Given the description of an element on the screen output the (x, y) to click on. 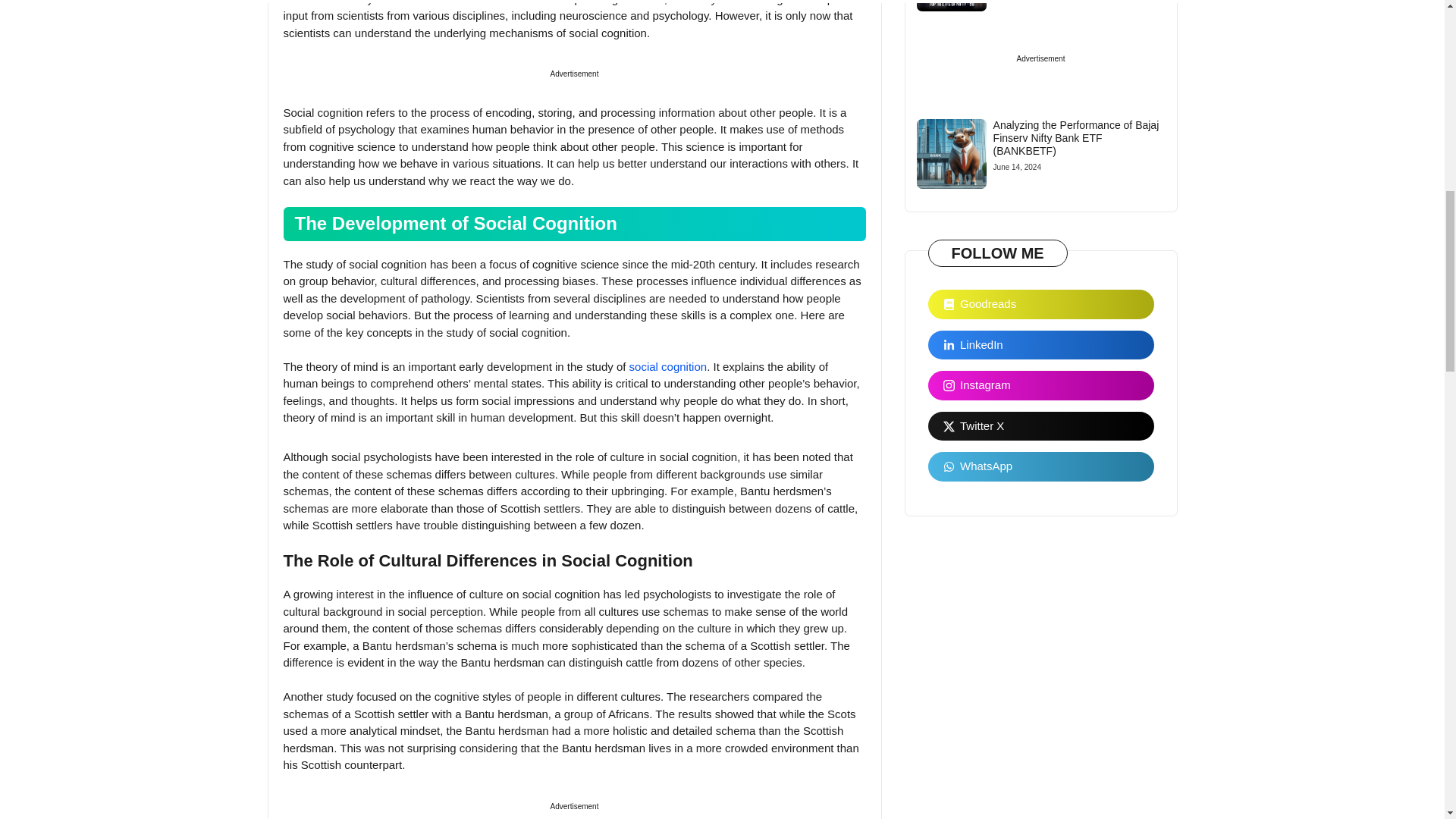
social cognition (667, 366)
